Given the description of an element on the screen output the (x, y) to click on. 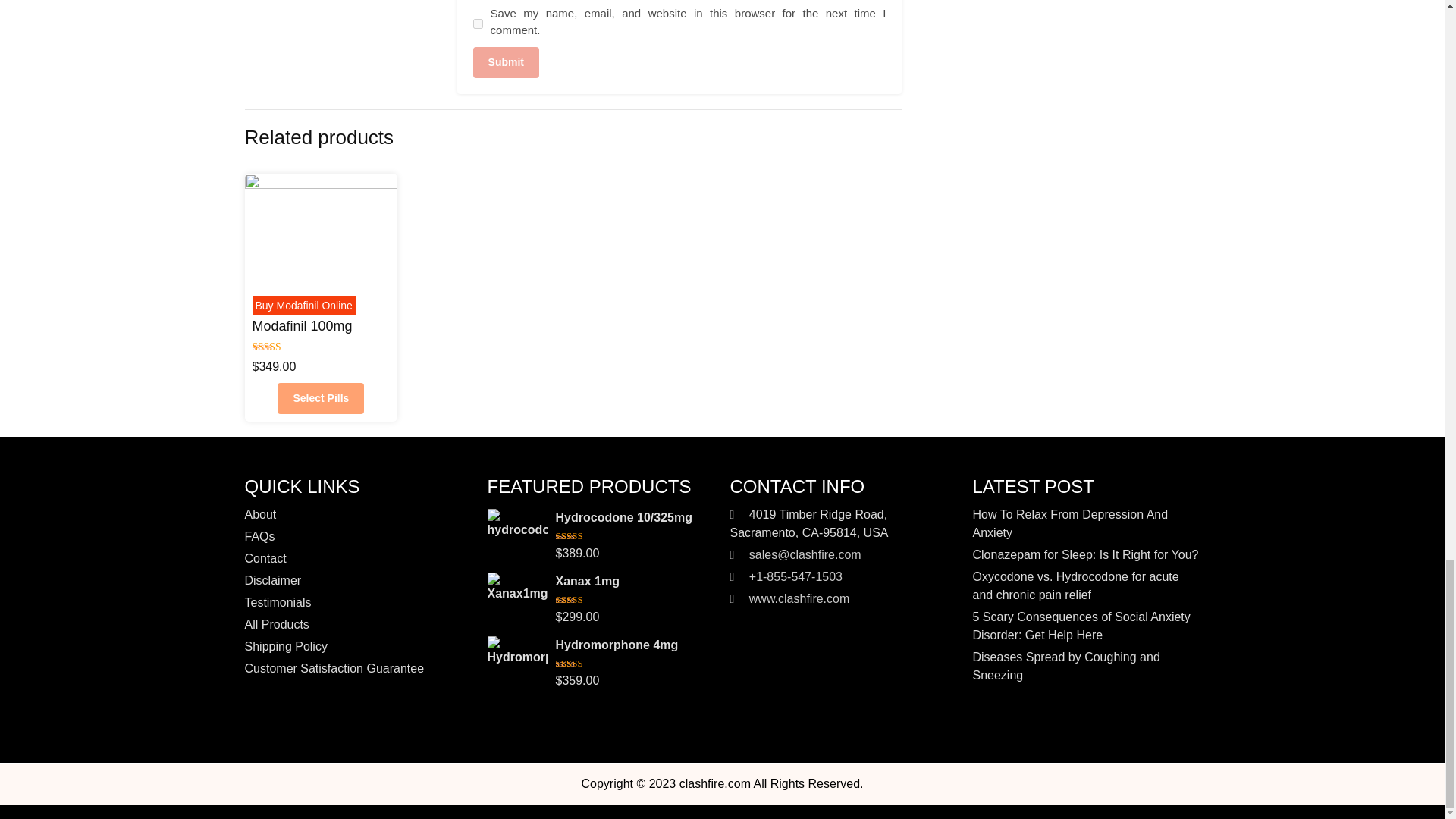
Submit (505, 61)
Submit (505, 61)
Modafinil 100mg (301, 325)
Select Pills (321, 398)
Buy Modafinil Online (303, 305)
